Given the description of an element on the screen output the (x, y) to click on. 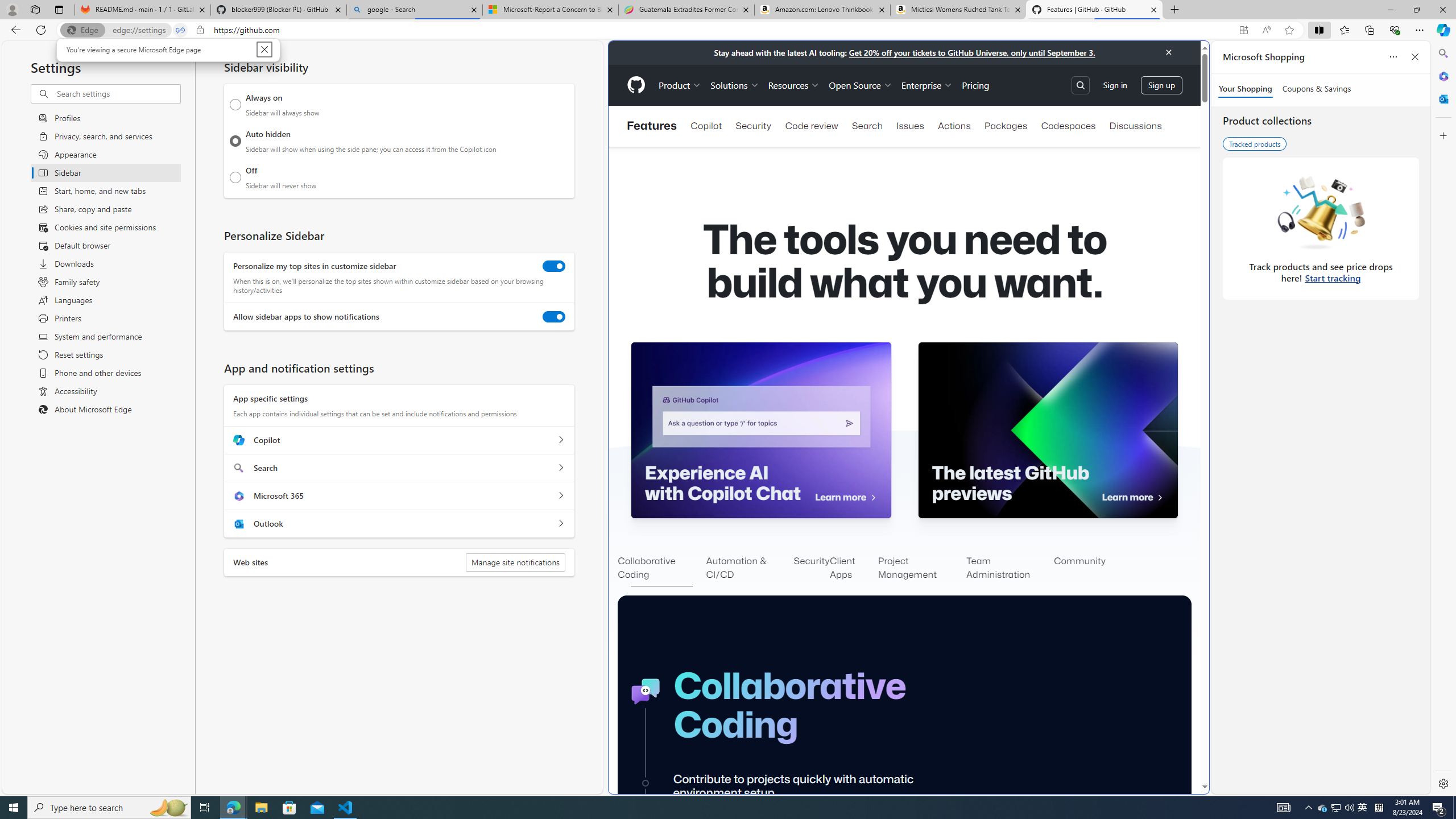
Team Administration (1009, 568)
GitHub Collaboration Icon (646, 691)
The latest GitHub previews Learn more  (1047, 429)
Copilot (706, 125)
Microsoft Edge - 2 running windows (233, 807)
Outlook (1442, 98)
Automation & CI/CD (749, 568)
